Given the description of an element on the screen output the (x, y) to click on. 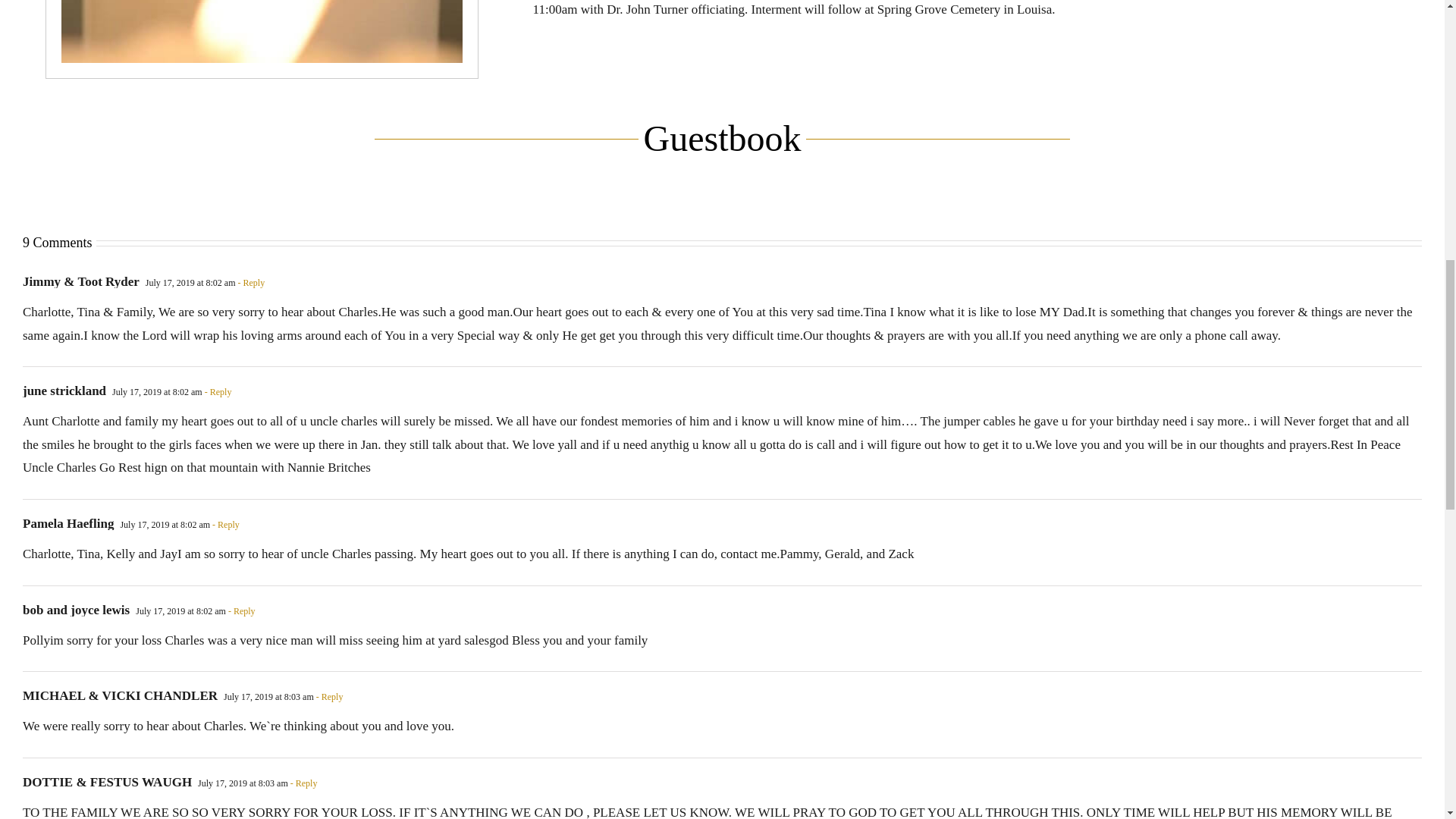
Guestbook (722, 153)
